Given the description of an element on the screen output the (x, y) to click on. 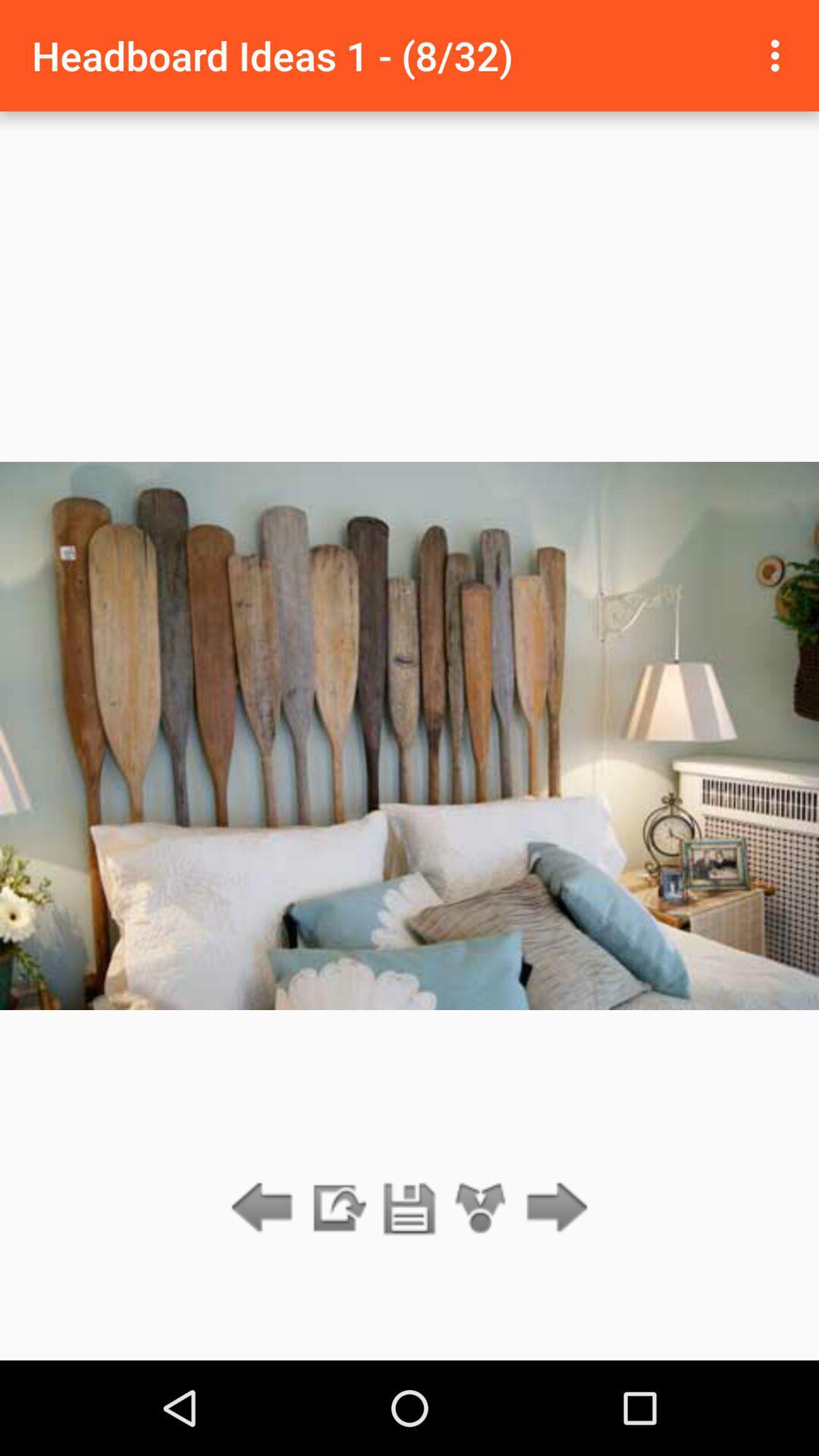
go back (266, 1209)
